Given the description of an element on the screen output the (x, y) to click on. 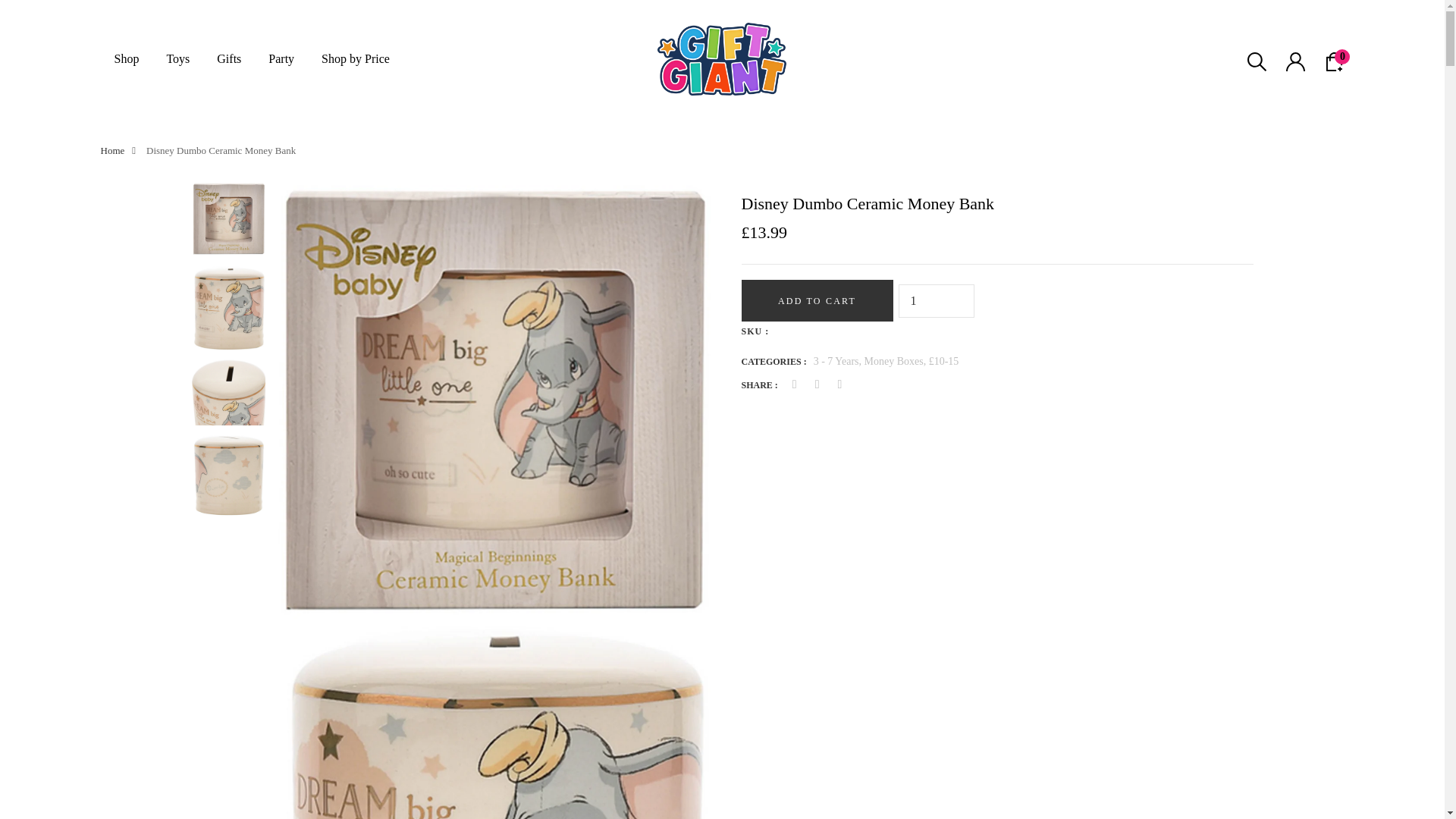
1 (936, 300)
